Given the description of an element on the screen output the (x, y) to click on. 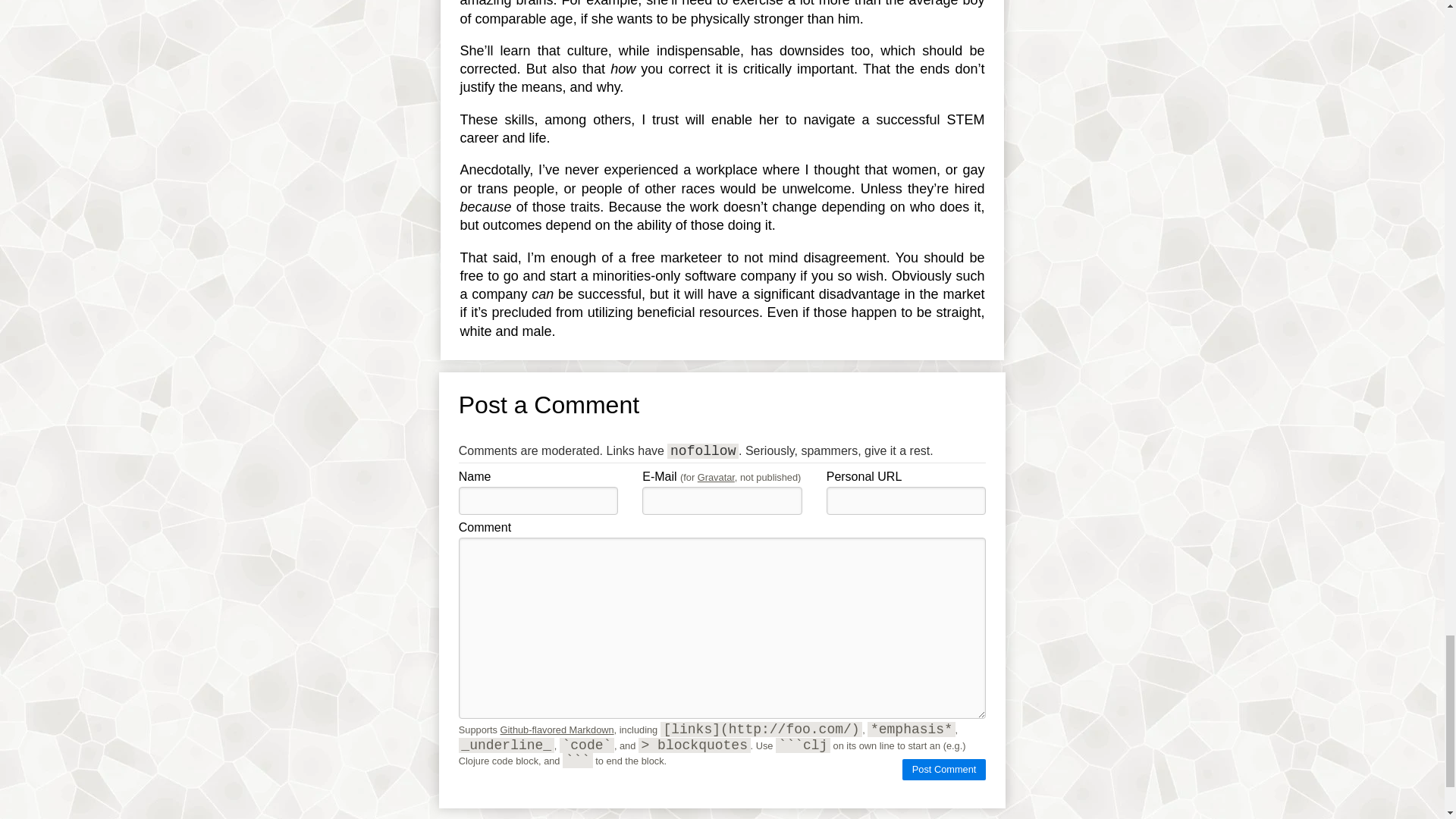
Github-flavored Markdown (557, 729)
Post Comment (943, 769)
Post Comment (943, 769)
Gravatar (716, 477)
